Given the description of an element on the screen output the (x, y) to click on. 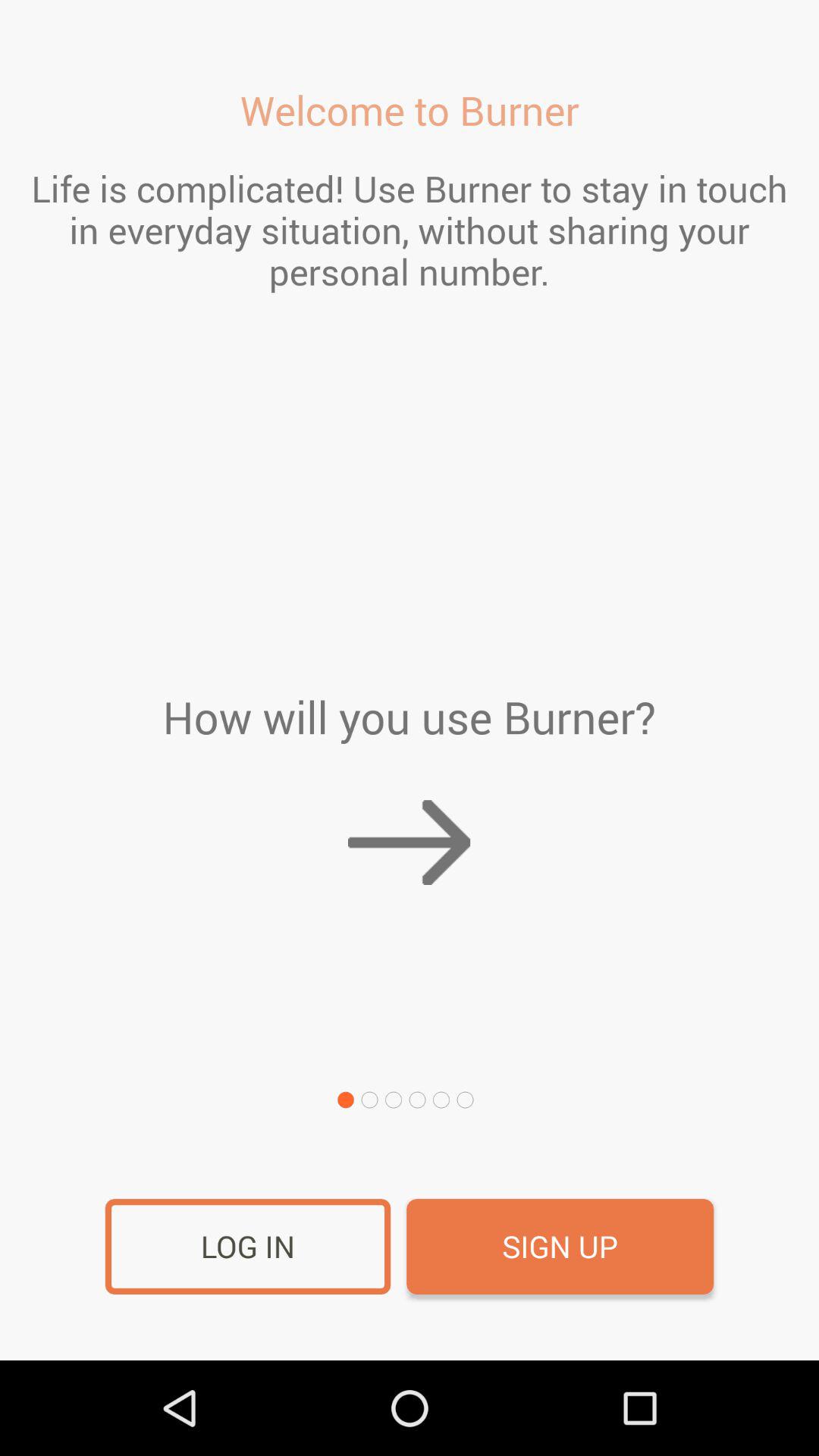
press the log in icon (247, 1246)
